Given the description of an element on the screen output the (x, y) to click on. 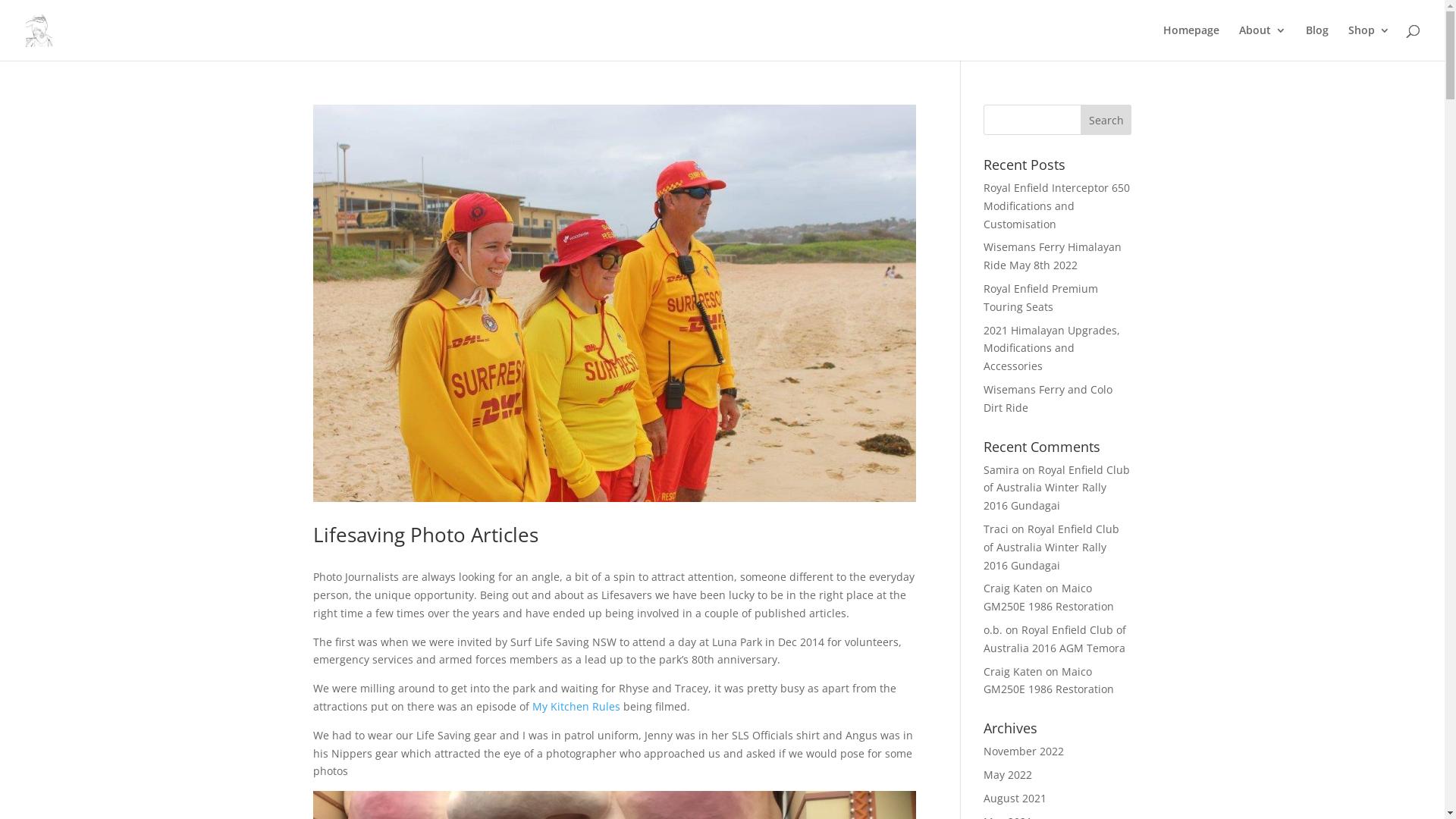
May 2022 Element type: text (1007, 774)
Search Element type: text (1106, 119)
August 2021 Element type: text (1014, 797)
Royal Enfield Premium Touring Seats Element type: text (1040, 297)
Shop Element type: text (1369, 42)
Royal Enfield Club of Australia 2016 AGM Temora Element type: text (1054, 638)
Craig Katen Element type: text (1012, 587)
Wisemans Ferry Himalayan Ride May 8th 2022 Element type: text (1052, 255)
Craig Katen Element type: text (1012, 671)
Royal Enfield Club of Australia Winter Rally 2016 Gundagai Element type: text (1056, 487)
Homepage Element type: text (1191, 42)
Maico GM250E 1986 Restoration Element type: text (1048, 680)
Blog Element type: text (1316, 42)
2021 Himalayan Upgrades, Modifications and Accessories Element type: text (1051, 348)
Samira Element type: text (1001, 469)
November 2022 Element type: text (1023, 750)
Wisemans Ferry and Colo Dirt Ride Element type: text (1047, 398)
Maico GM250E 1986 Restoration Element type: text (1048, 596)
Traci Element type: text (995, 528)
Lifesaving Photo Articles Element type: text (424, 534)
Royal Enfield Club of Australia Winter Rally 2016 Gundagai Element type: text (1051, 546)
About Element type: text (1262, 42)
My Kitchen Rules Element type: text (576, 706)
